Given the description of an element on the screen output the (x, y) to click on. 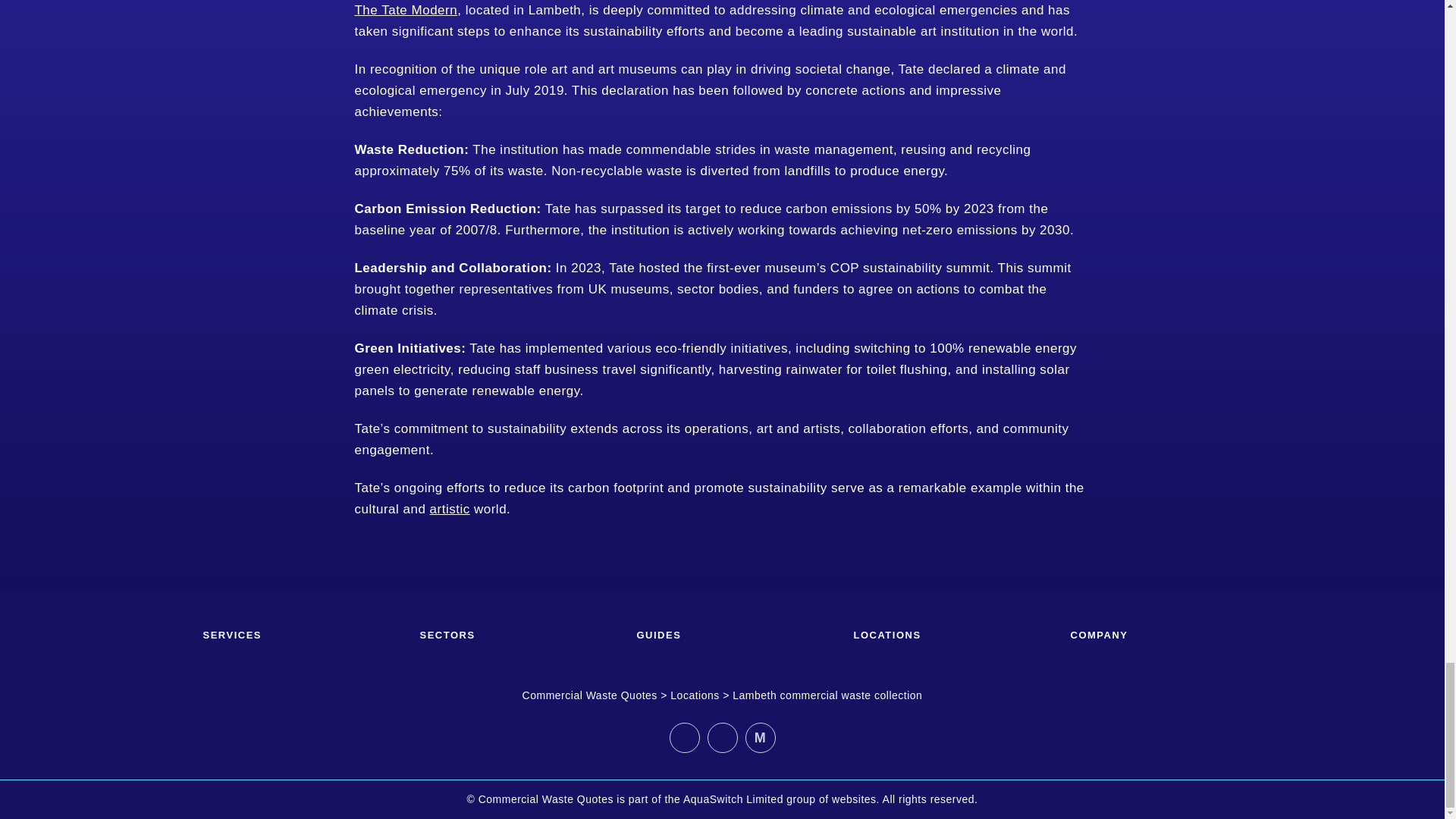
twitter (721, 737)
medium (759, 737)
linkedin (683, 737)
